Given the description of an element on the screen output the (x, y) to click on. 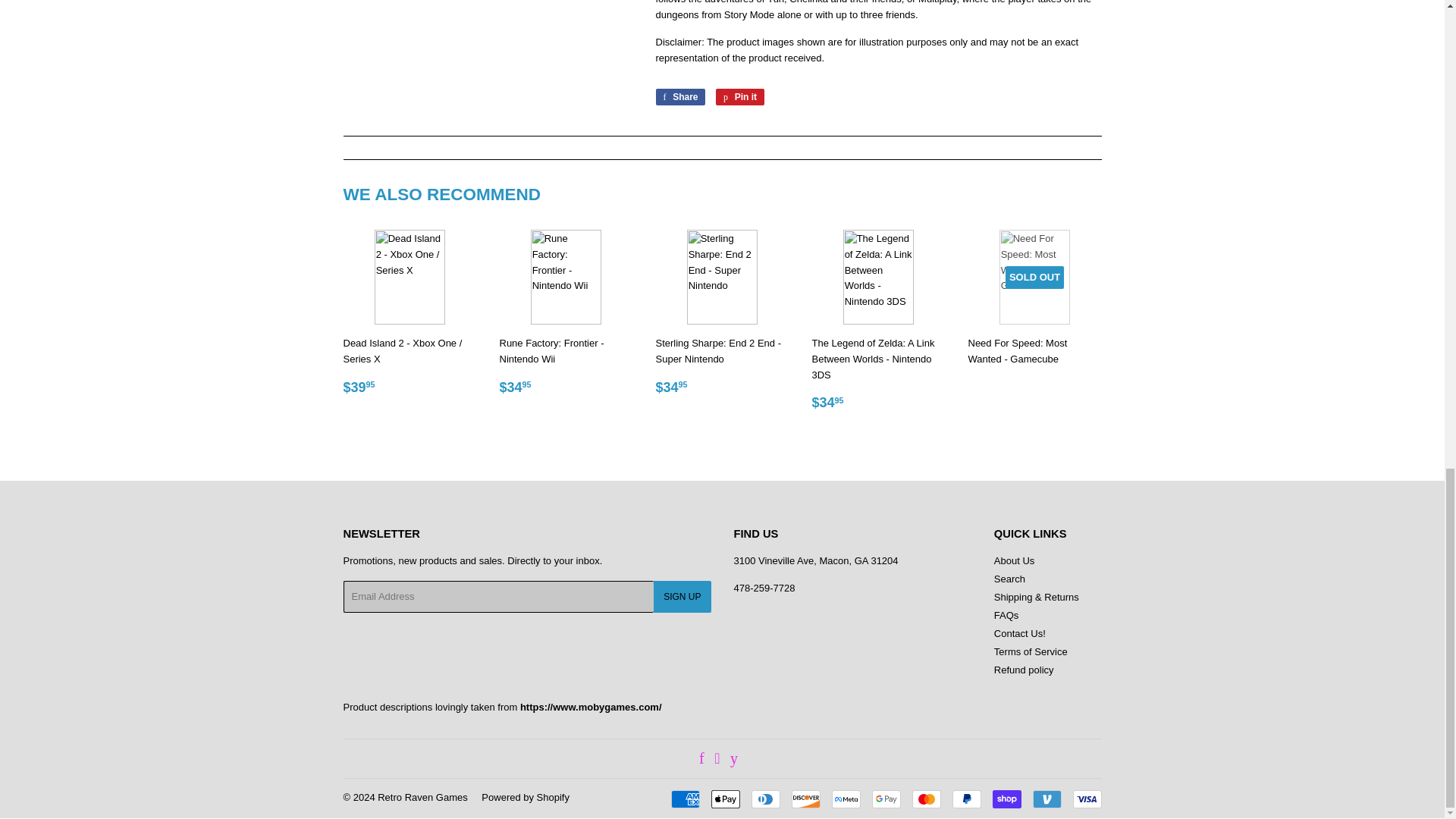
Discover (806, 799)
Google Pay (886, 799)
PayPal (966, 799)
Venmo (1046, 799)
American Express (683, 799)
Mastercard (925, 799)
Pin on Pinterest (740, 96)
Meta Pay (845, 799)
Visa (1085, 799)
Shop Pay (1005, 799)
Share on Facebook (679, 96)
Diners Club (764, 799)
Apple Pay (725, 799)
